Given the description of an element on the screen output the (x, y) to click on. 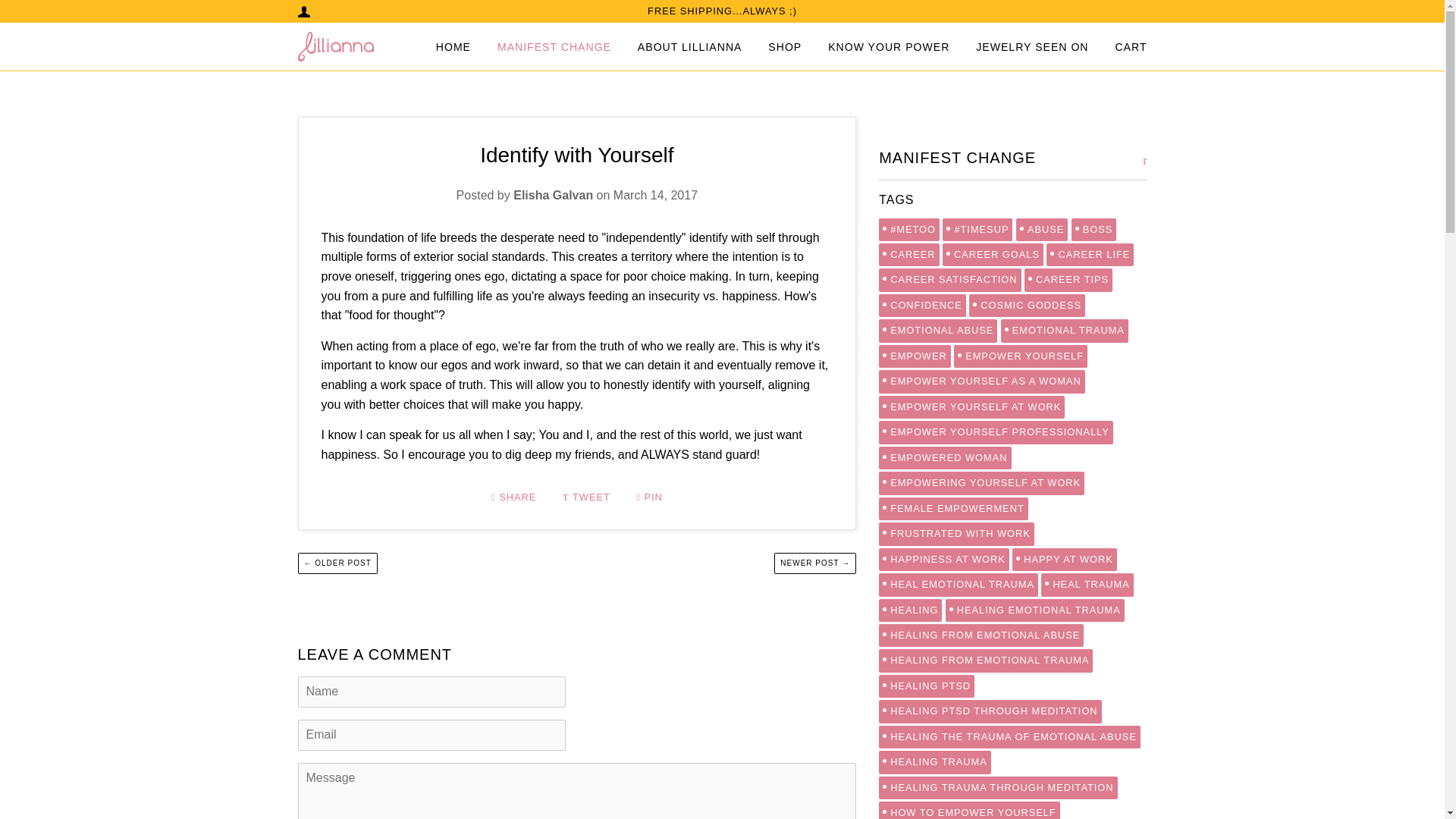
SHOP (785, 47)
MANIFEST CHANGE (554, 47)
CAREER SATISFACTION (949, 279)
CART (1131, 47)
CAREER (909, 254)
ABUSE (1041, 229)
BOSS (1093, 229)
CAREER LIFE (1090, 254)
heart emoticon (769, 454)
ABOUT LILLIANNA (689, 47)
JEWELRY SEEN ON (1031, 47)
CAREER GOALS (992, 254)
HOME (452, 47)
TWEET (587, 496)
RSS (1144, 160)
